Given the description of an element on the screen output the (x, y) to click on. 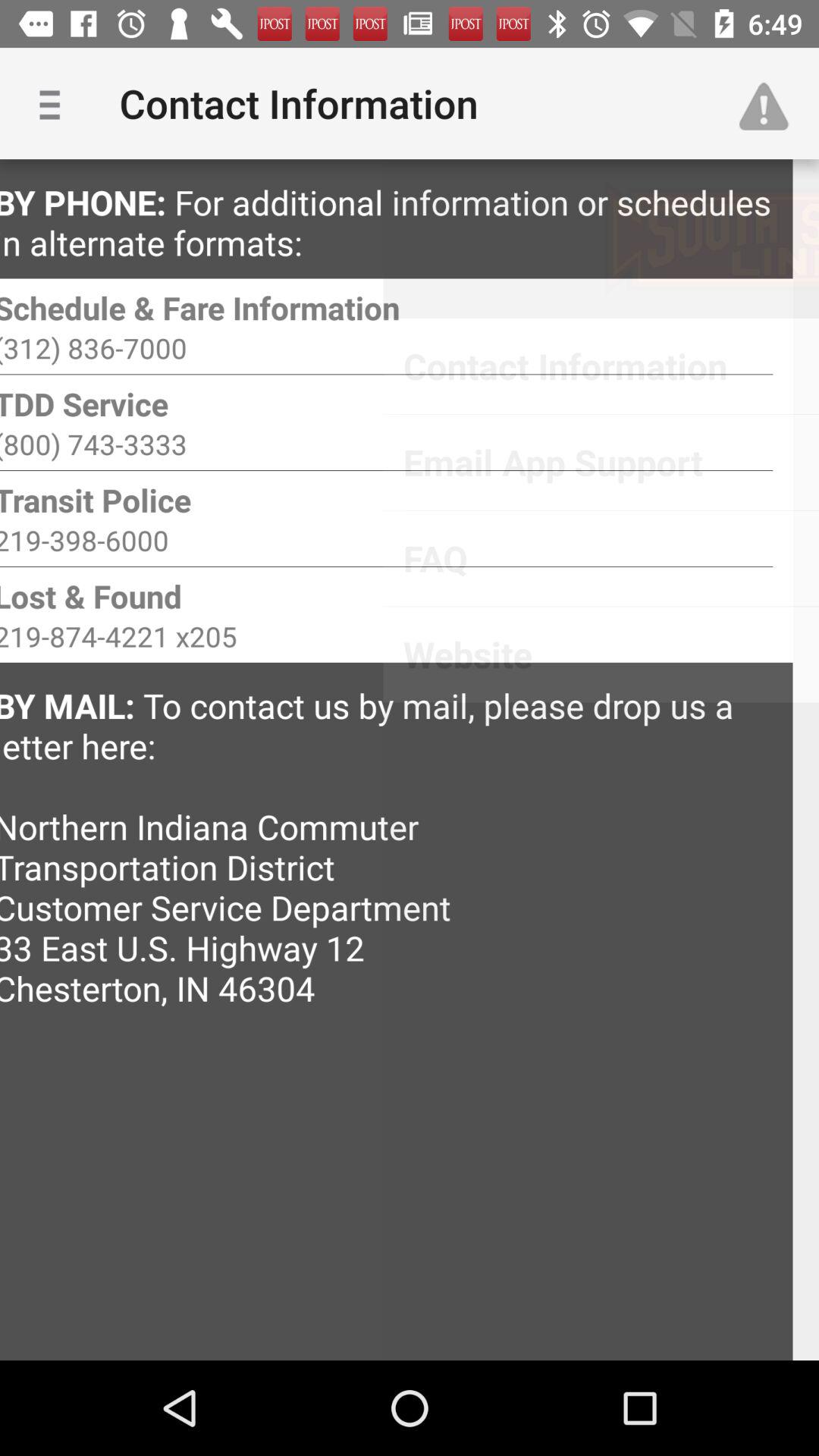
open app next to contact information icon (55, 103)
